Given the description of an element on the screen output the (x, y) to click on. 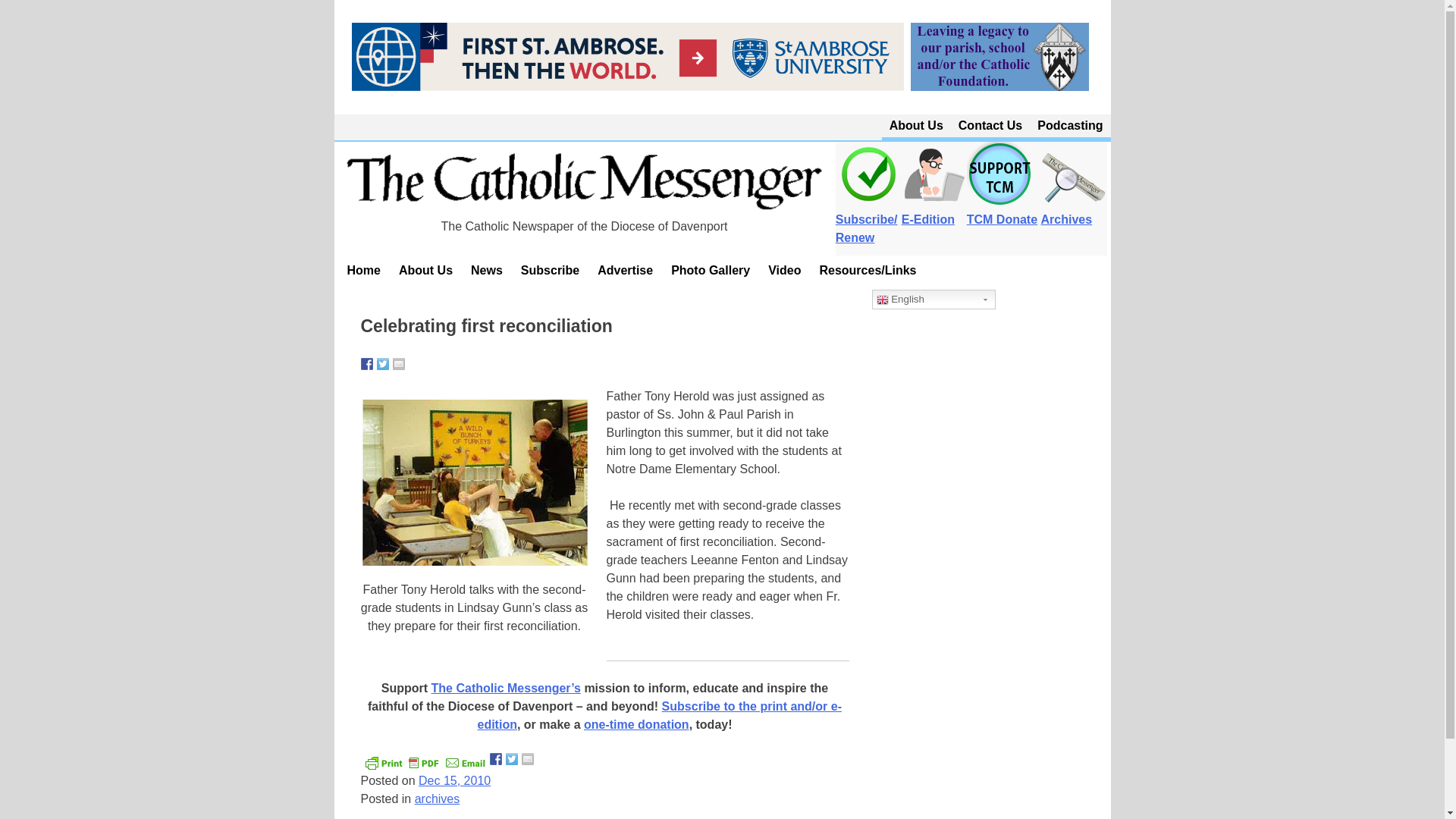
Share by email (527, 758)
Share by email (398, 363)
Podcasting (1069, 125)
Advertise (625, 270)
Share on Twitter (510, 758)
Contact Us (989, 125)
News (487, 270)
About Us (425, 270)
Archives (1073, 210)
About Us (916, 125)
